Given the description of an element on the screen output the (x, y) to click on. 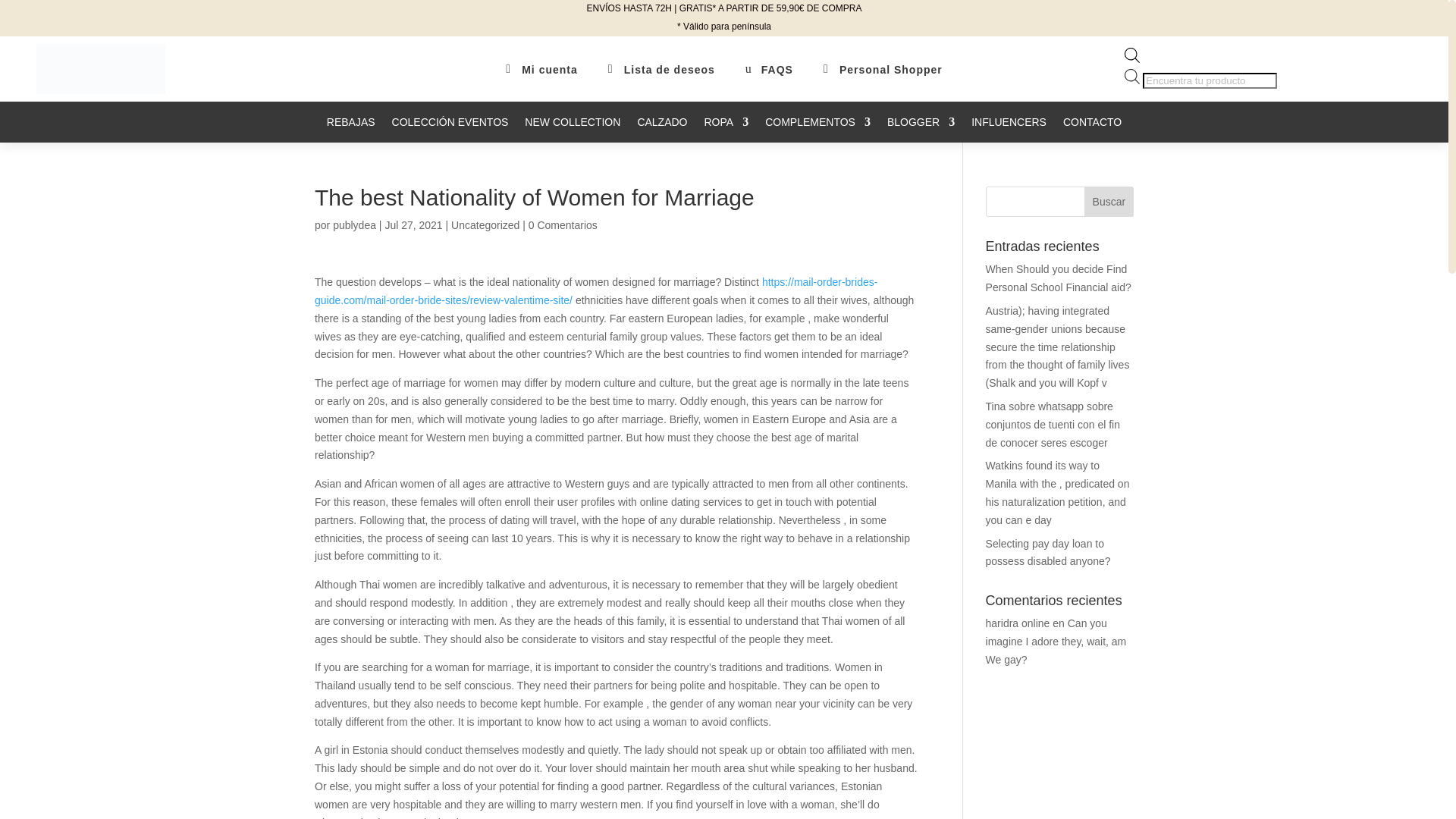
CALZADO (662, 129)
REBAJAS (350, 129)
ROPA (725, 129)
INFLUENCERS (1008, 129)
Personal Shopper (891, 69)
Mi cuenta (549, 69)
FAQS (777, 69)
Buscar (1109, 201)
BLOGGER (920, 129)
CONTACTO (1091, 129)
Mensajes de publydea (354, 224)
u (751, 69)
Lista de deseos (669, 69)
NEW COLLECTION (572, 129)
COMPLEMENTOS (817, 129)
